Given the description of an element on the screen output the (x, y) to click on. 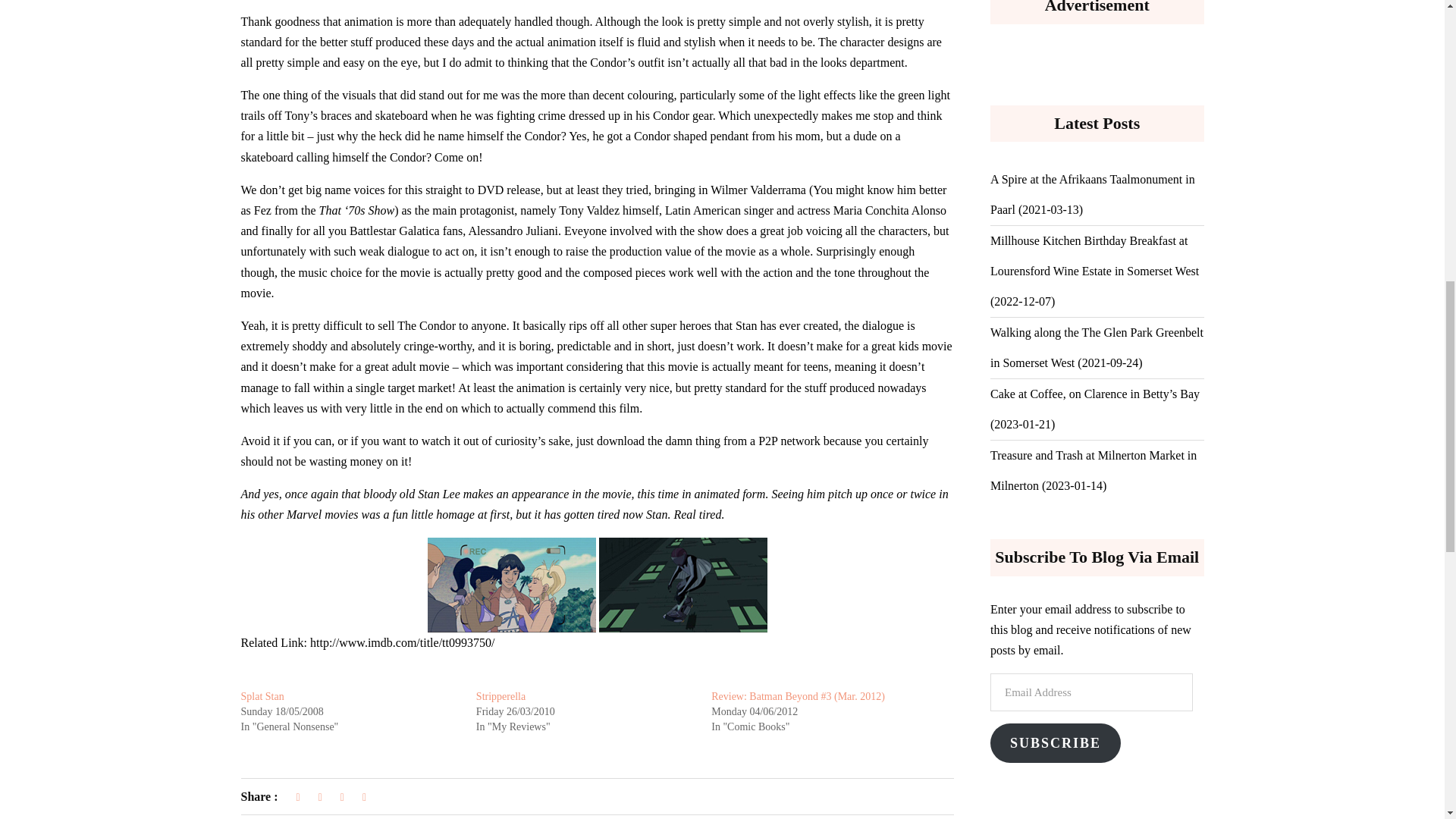
Stan Lee Presents The Condor1 (511, 584)
Stan Lee Presents The Condor2 (682, 584)
Stripperella (500, 696)
Splat Stan (262, 696)
